Given the description of an element on the screen output the (x, y) to click on. 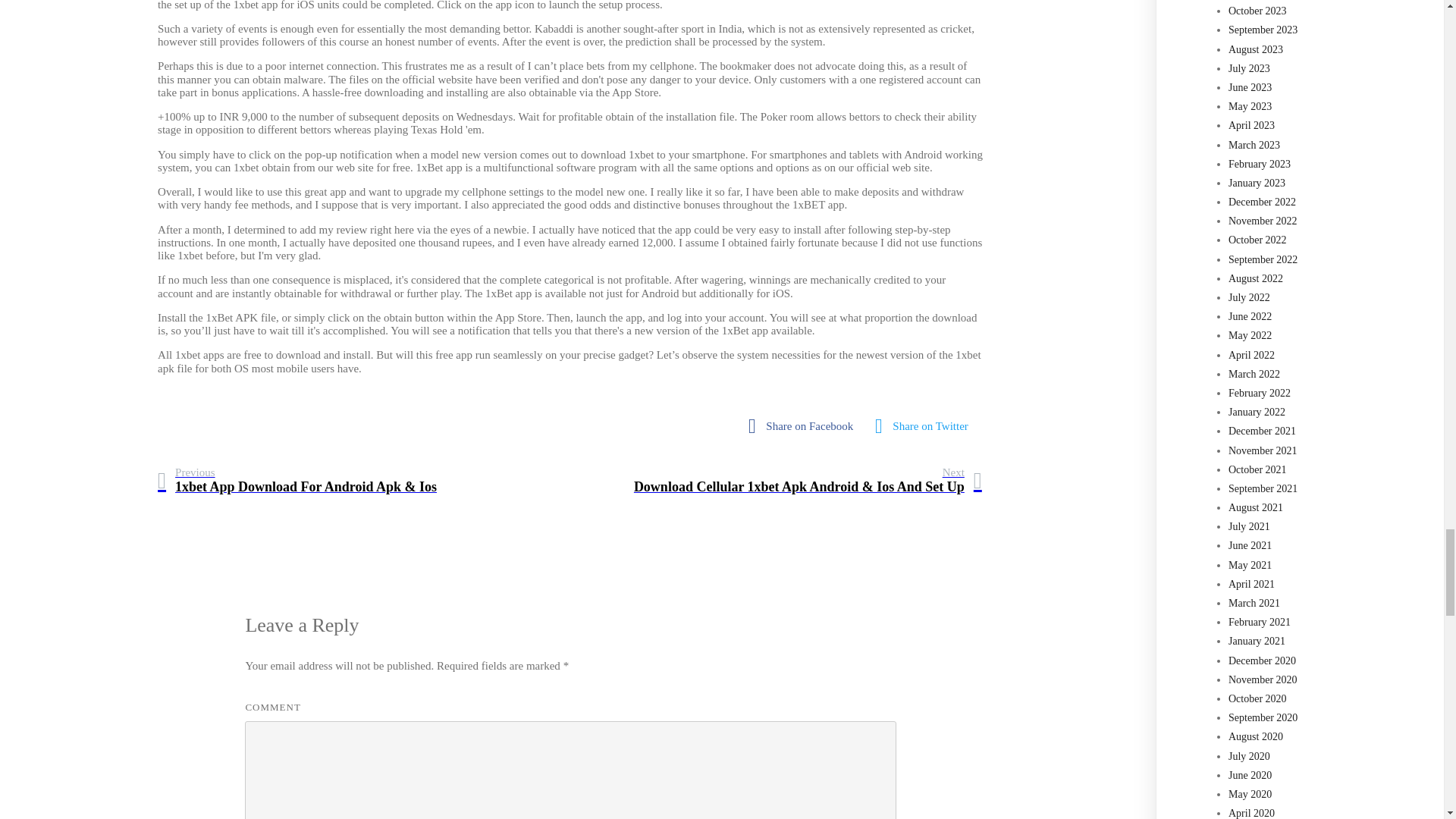
fab fa-facebook-square (804, 426)
Share on Facebook (804, 426)
Share on Twitter (925, 426)
fab fa-twitter-square (925, 426)
